Given the description of an element on the screen output the (x, y) to click on. 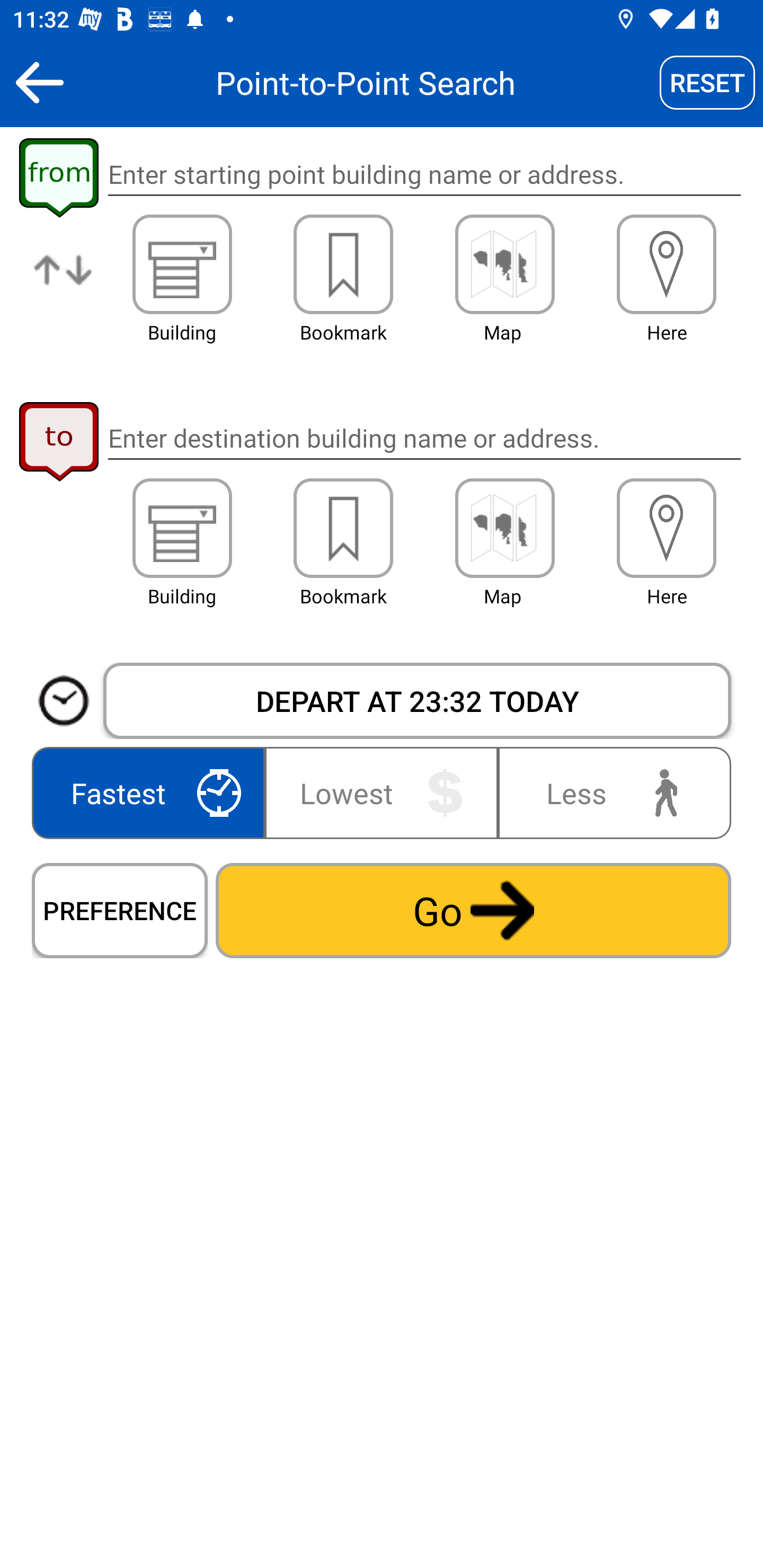
Back (39, 82)
RESET Reset (707, 81)
Enter starting point building name or address. (423, 174)
Building (181, 263)
Bookmarks (342, 263)
Select location on map (504, 263)
Here (666, 263)
Swap origin and destination (63, 284)
Enter destination building name or address. (423, 437)
Building (181, 528)
Bookmarks (342, 528)
Select location on map (504, 528)
Here (666, 528)
Lowest (381, 792)
Fastest selected (151, 792)
Less (610, 792)
PREFERENCE Preference (119, 910)
Go (472, 910)
